Given the description of an element on the screen output the (x, y) to click on. 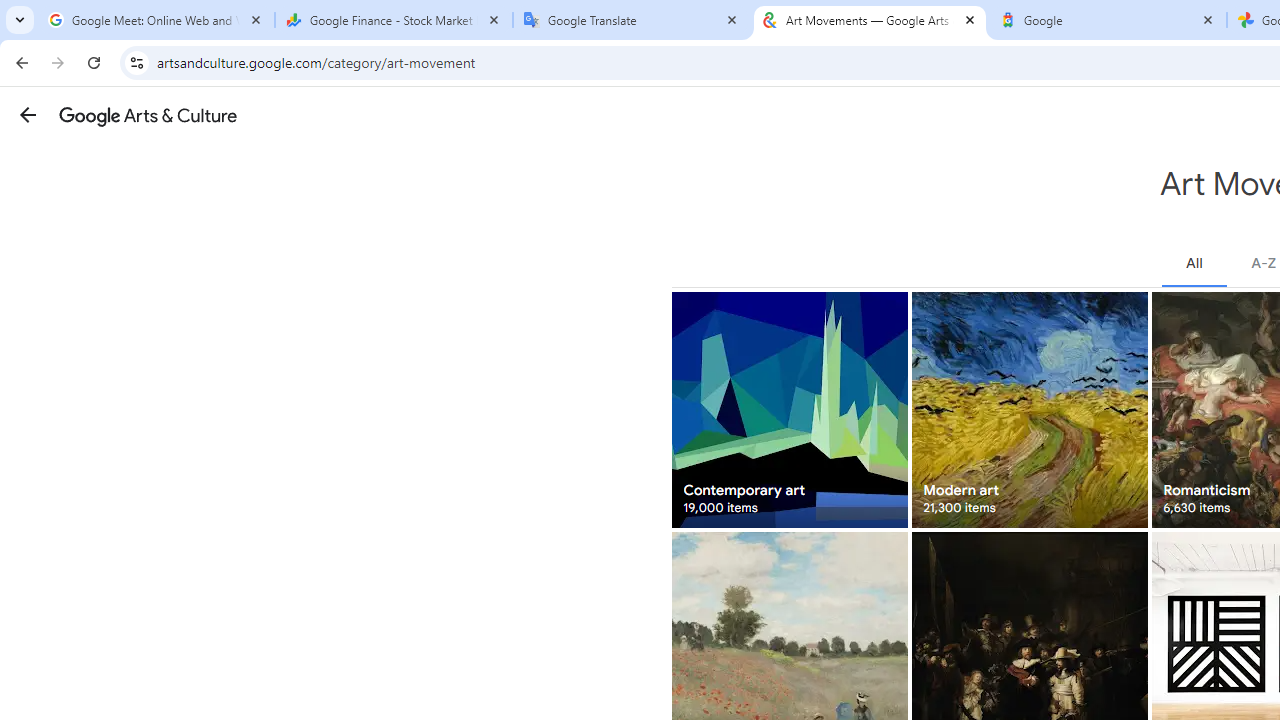
Contemporary art 19,000 items (788, 409)
